Given the description of an element on the screen output the (x, y) to click on. 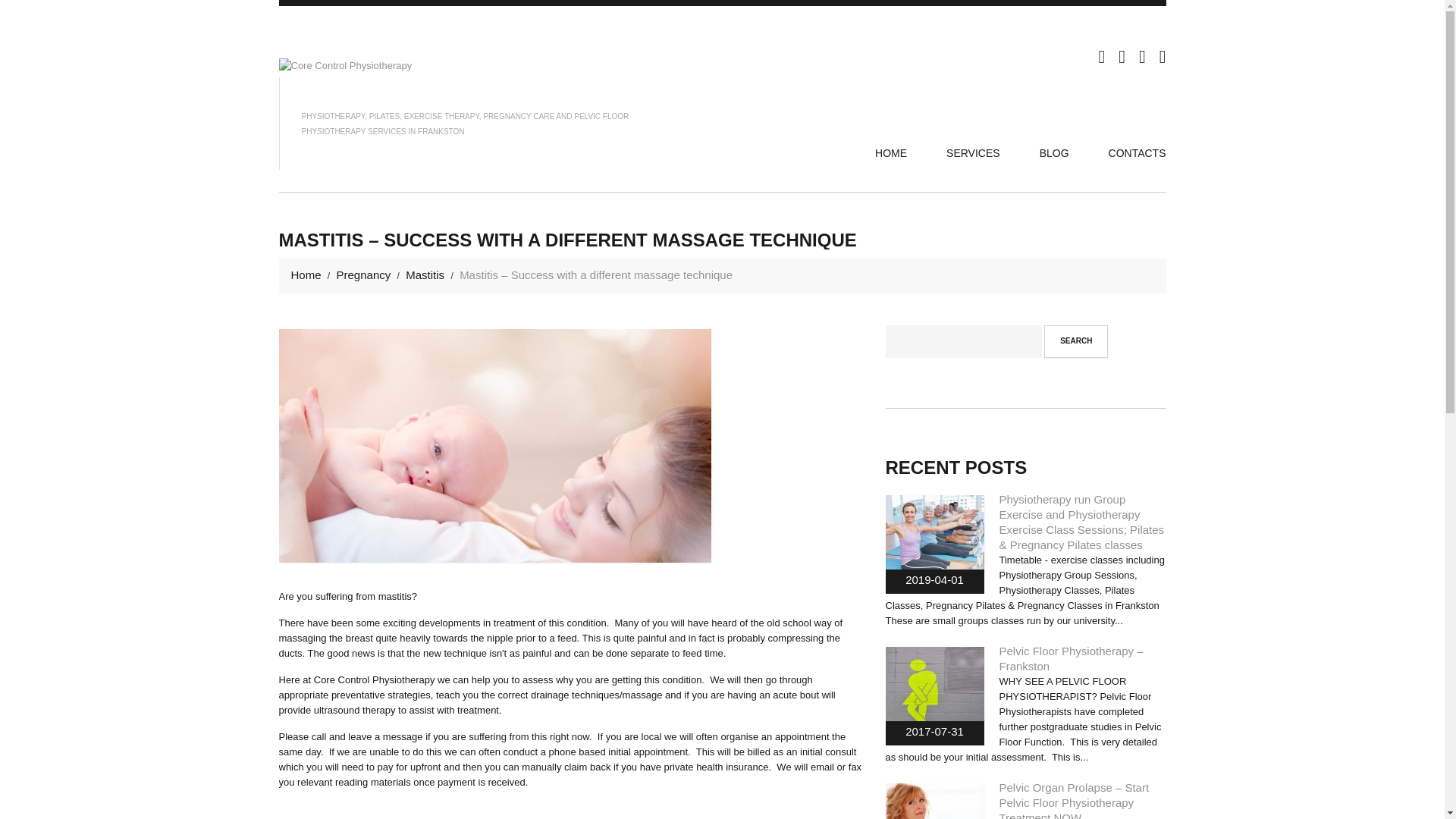
HOME Element type: text (890, 152)
twitter Element type: hover (1101, 54)
SERVICES Element type: text (973, 152)
CONTACTS Element type: text (1137, 152)
linkedin Element type: hover (1142, 54)
Pregnancy Element type: text (363, 274)
Home Element type: text (306, 274)
feed Element type: hover (1162, 54)
BLOG Element type: text (1054, 152)
search Element type: text (1075, 341)
facebook Element type: hover (1121, 54)
Mastitis Element type: text (424, 274)
